Given the description of an element on the screen output the (x, y) to click on. 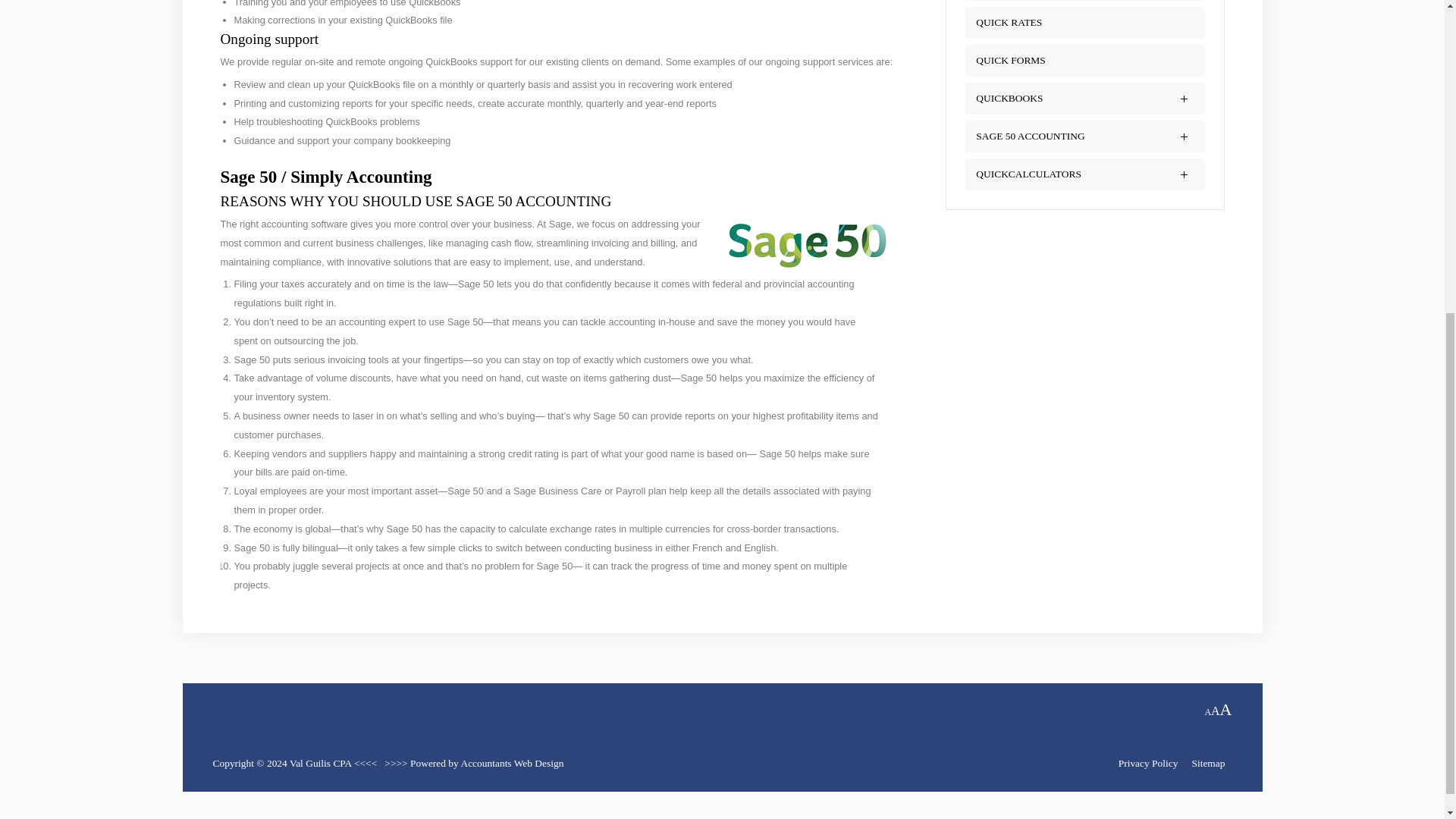
QUICK RATES (1008, 21)
QUICK FORMS (1010, 60)
Visit Accountants Web Design (511, 763)
